Given the description of an element on the screen output the (x, y) to click on. 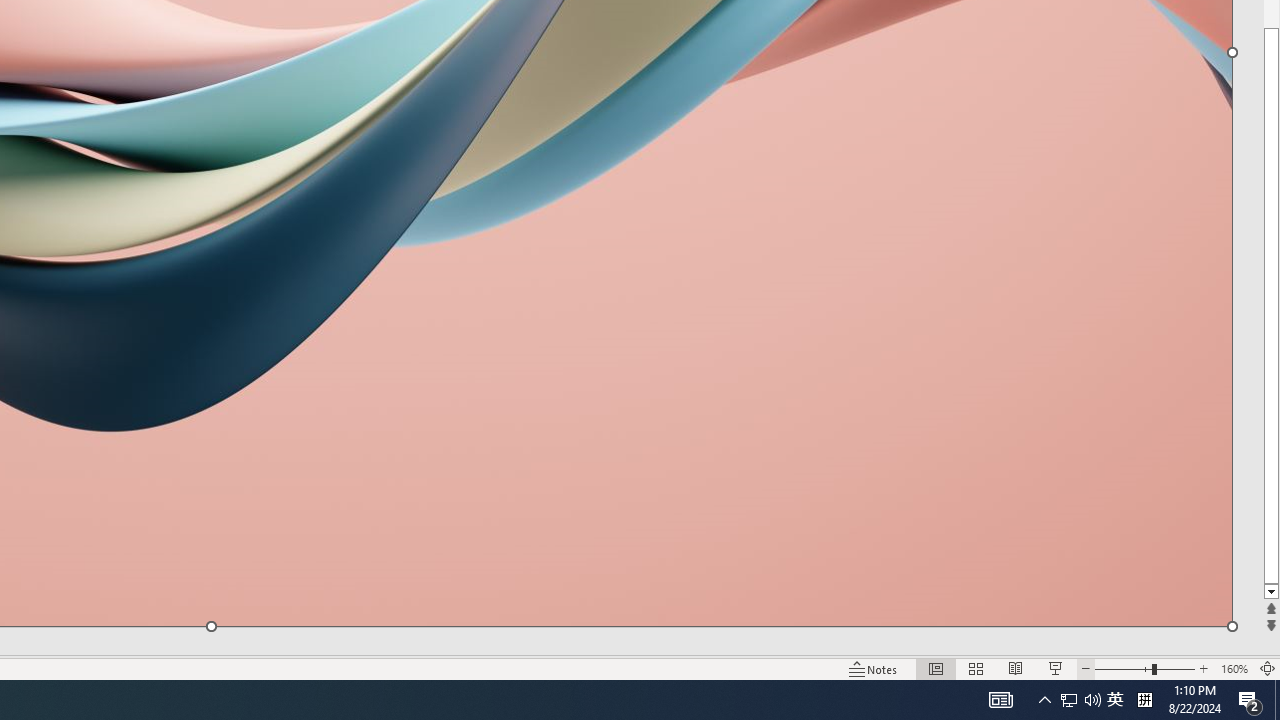
Line down (1271, 592)
Notes  (874, 668)
Zoom 160% (1234, 668)
